Given the description of an element on the screen output the (x, y) to click on. 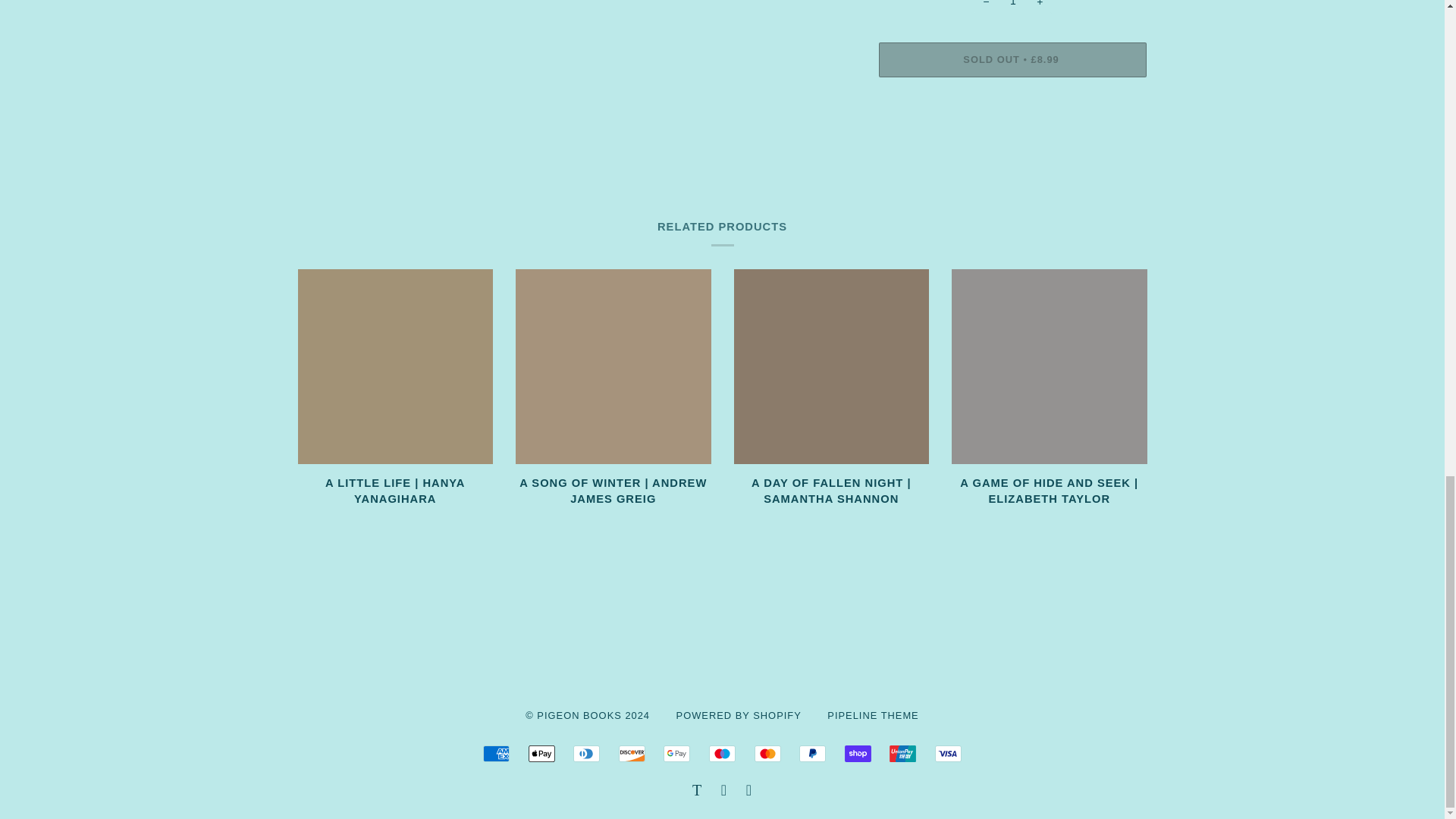
1 (1012, 6)
DINERS CLUB (586, 753)
APPLE PAY (541, 753)
DISCOVER (631, 753)
PAYPAL (812, 753)
SHOP PAY (857, 753)
AMERICAN EXPRESS (496, 753)
UNION PAY (902, 753)
VISA (947, 753)
GOOGLE PAY (676, 753)
MASTERCARD (767, 753)
MAESTRO (722, 753)
